Given the description of an element on the screen output the (x, y) to click on. 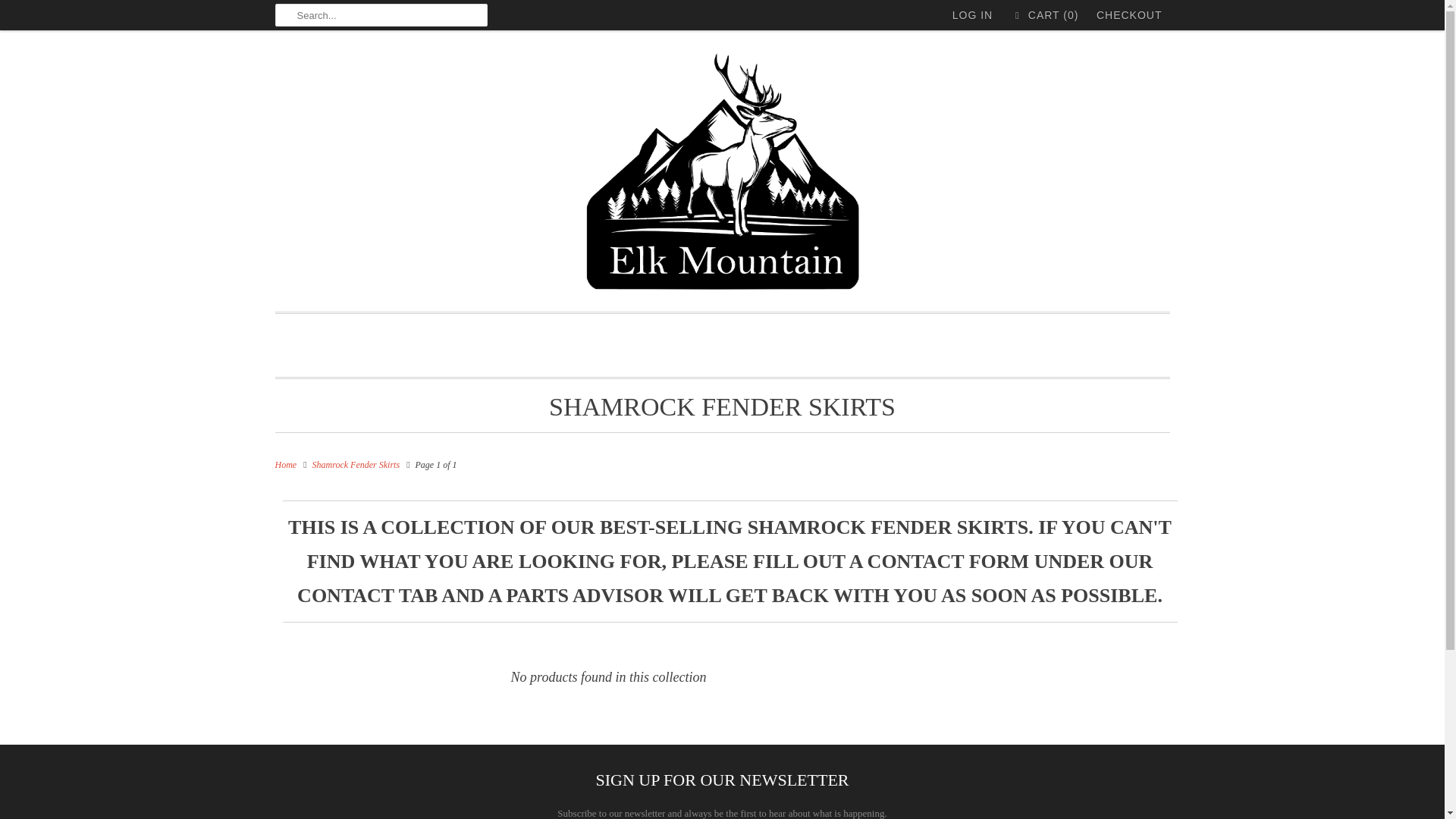
Shamrock Fender Skirts (356, 464)
Elk Mountain (286, 464)
Shamrock Fender Skirts (721, 406)
CHECKOUT (1128, 15)
Elk Mountain (722, 174)
LOG IN (972, 15)
